Given the description of an element on the screen output the (x, y) to click on. 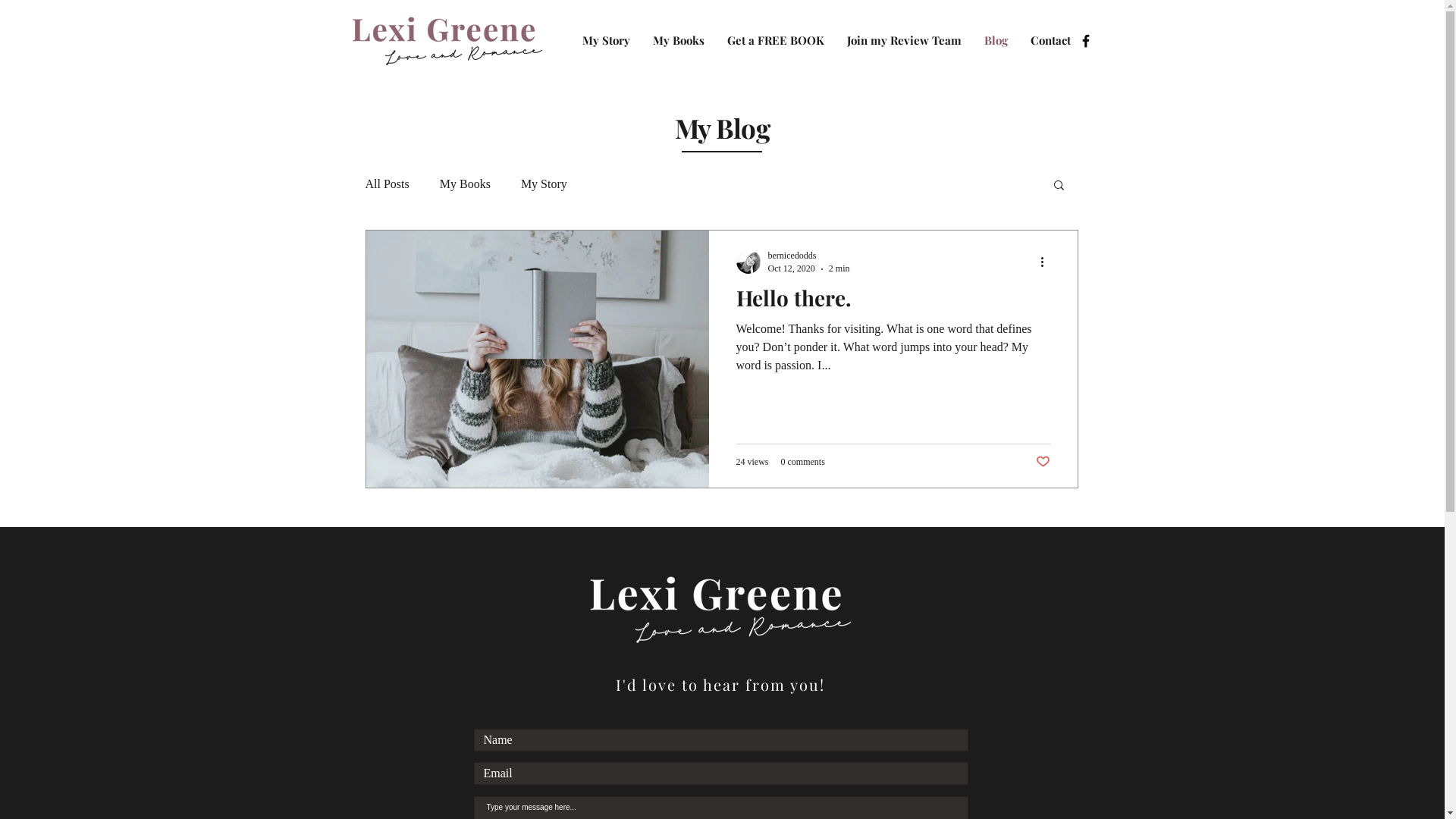
0 comments Element type: text (803, 461)
My Books Element type: text (464, 184)
Join my Review Team Element type: text (903, 40)
Get a FREE BOOK Element type: text (775, 40)
Contact Element type: text (1050, 40)
Blog Element type: text (995, 40)
bernicedodds Element type: text (808, 255)
Hello there. Element type: text (892, 301)
My Story Element type: text (605, 40)
All Posts Element type: text (387, 184)
My Story Element type: text (543, 184)
Post not marked as liked Element type: text (1042, 462)
My Books Element type: text (678, 40)
